Given the description of an element on the screen output the (x, y) to click on. 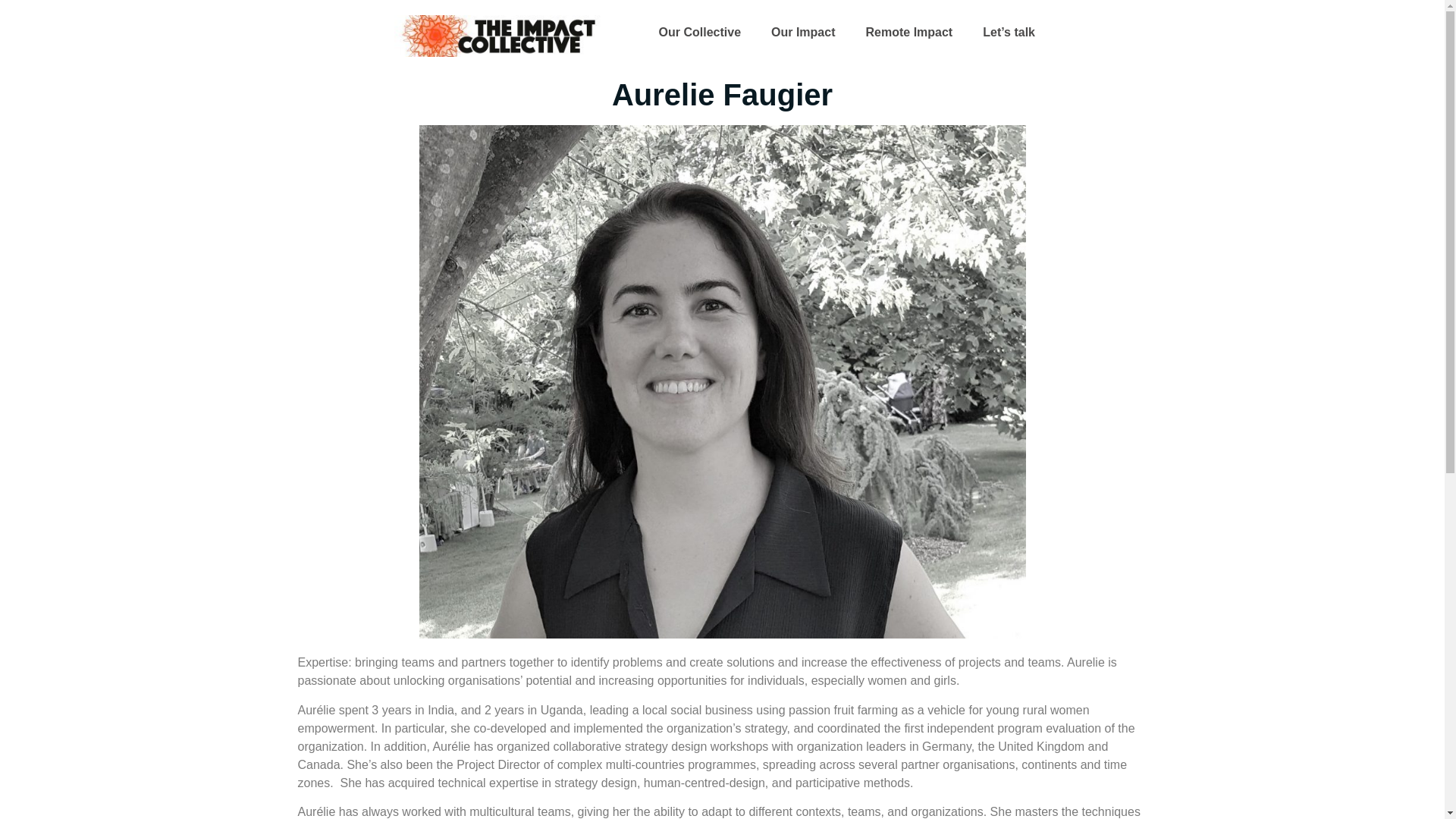
Remote Impact (909, 32)
Our Collective (699, 32)
Our Impact (802, 32)
